Given the description of an element on the screen output the (x, y) to click on. 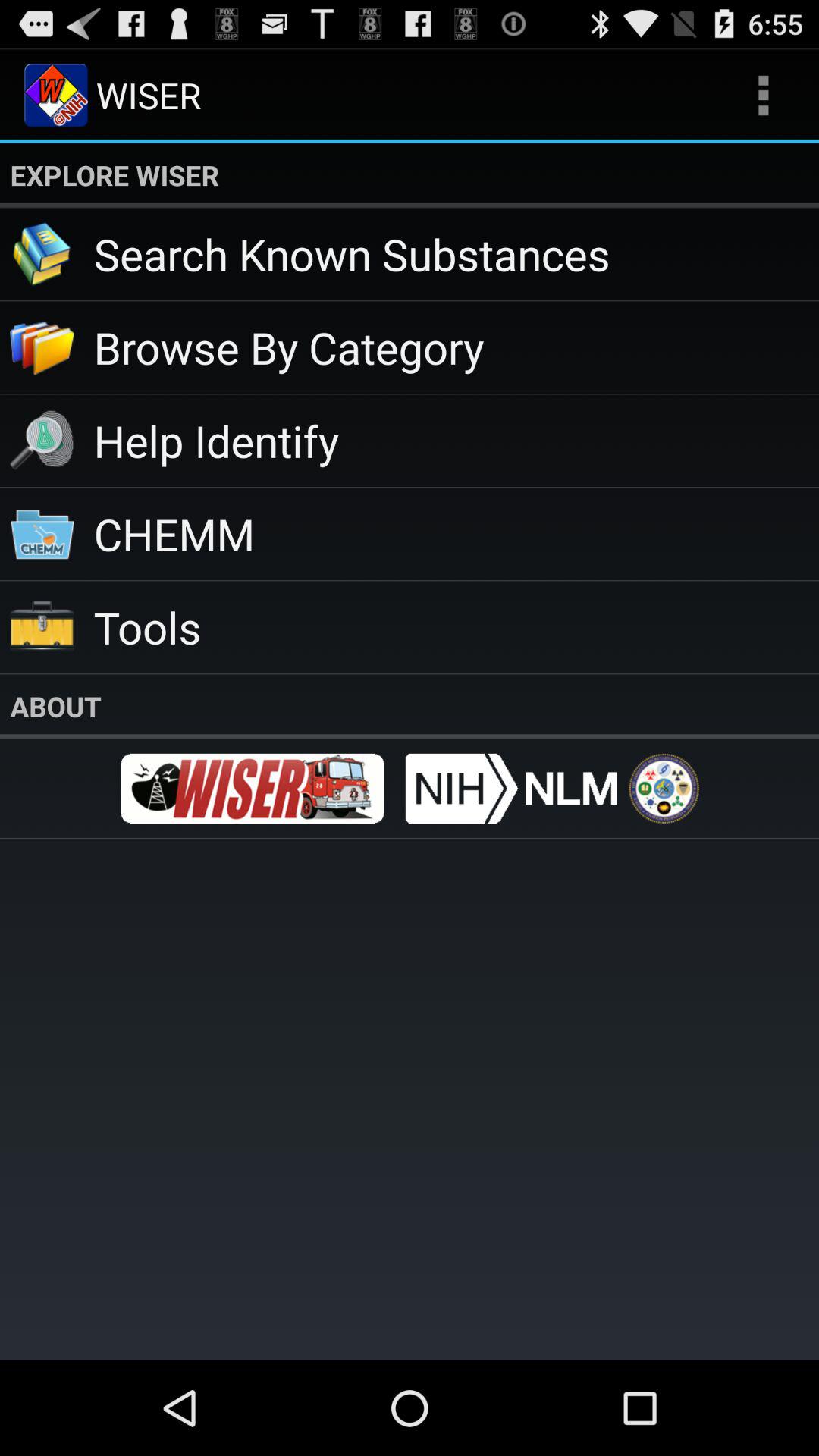
select the icon above tools item (456, 533)
